Given the description of an element on the screen output the (x, y) to click on. 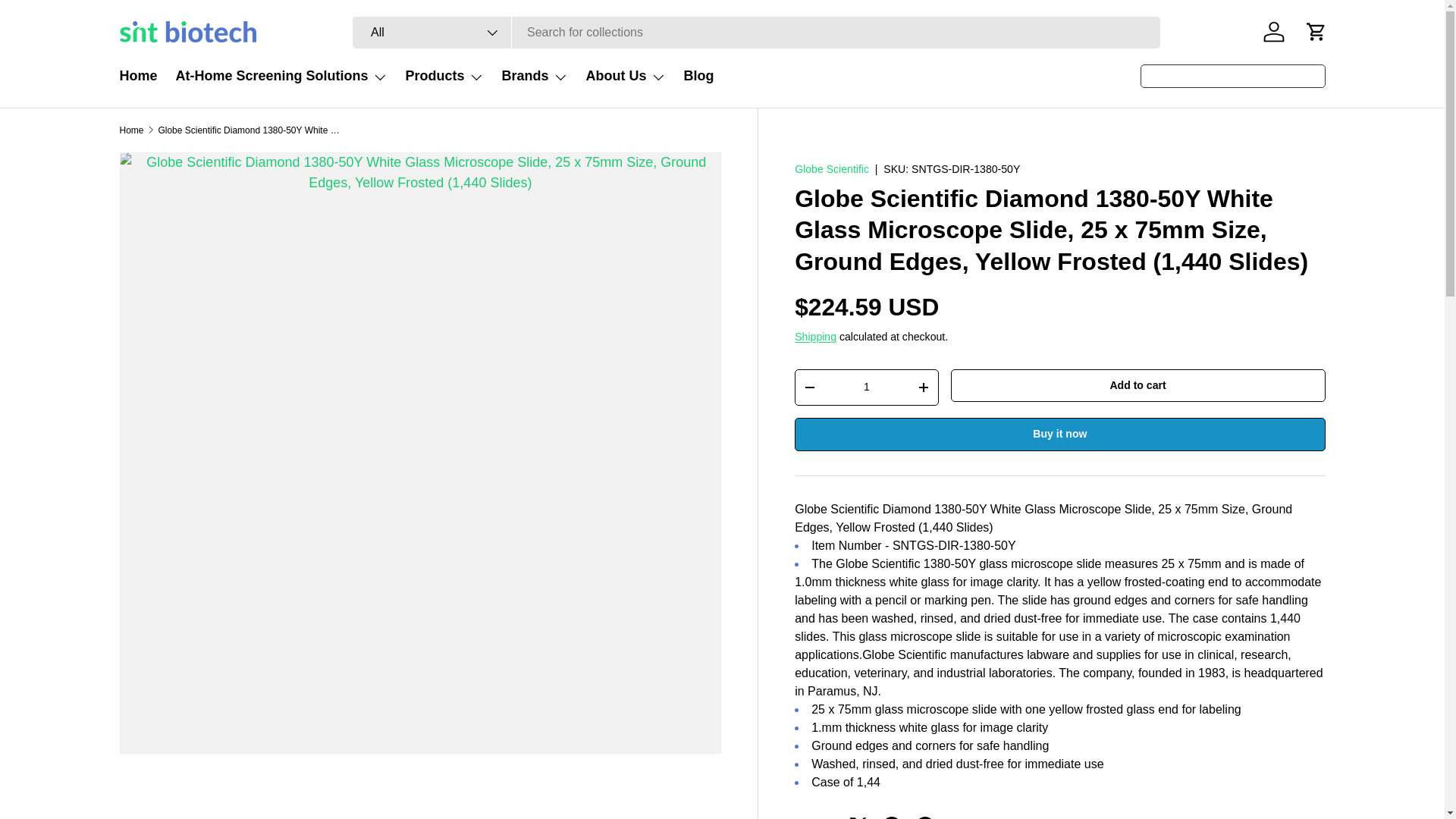
At-Home Screening Solutions (281, 76)
Products (444, 76)
1 (866, 386)
Share on Facebook (891, 814)
Pin on Pinterest (925, 814)
All (432, 32)
Skip to content (68, 21)
Tweet on X (858, 814)
Log in (1273, 31)
Cart (1316, 31)
Home (138, 76)
